Given the description of an element on the screen output the (x, y) to click on. 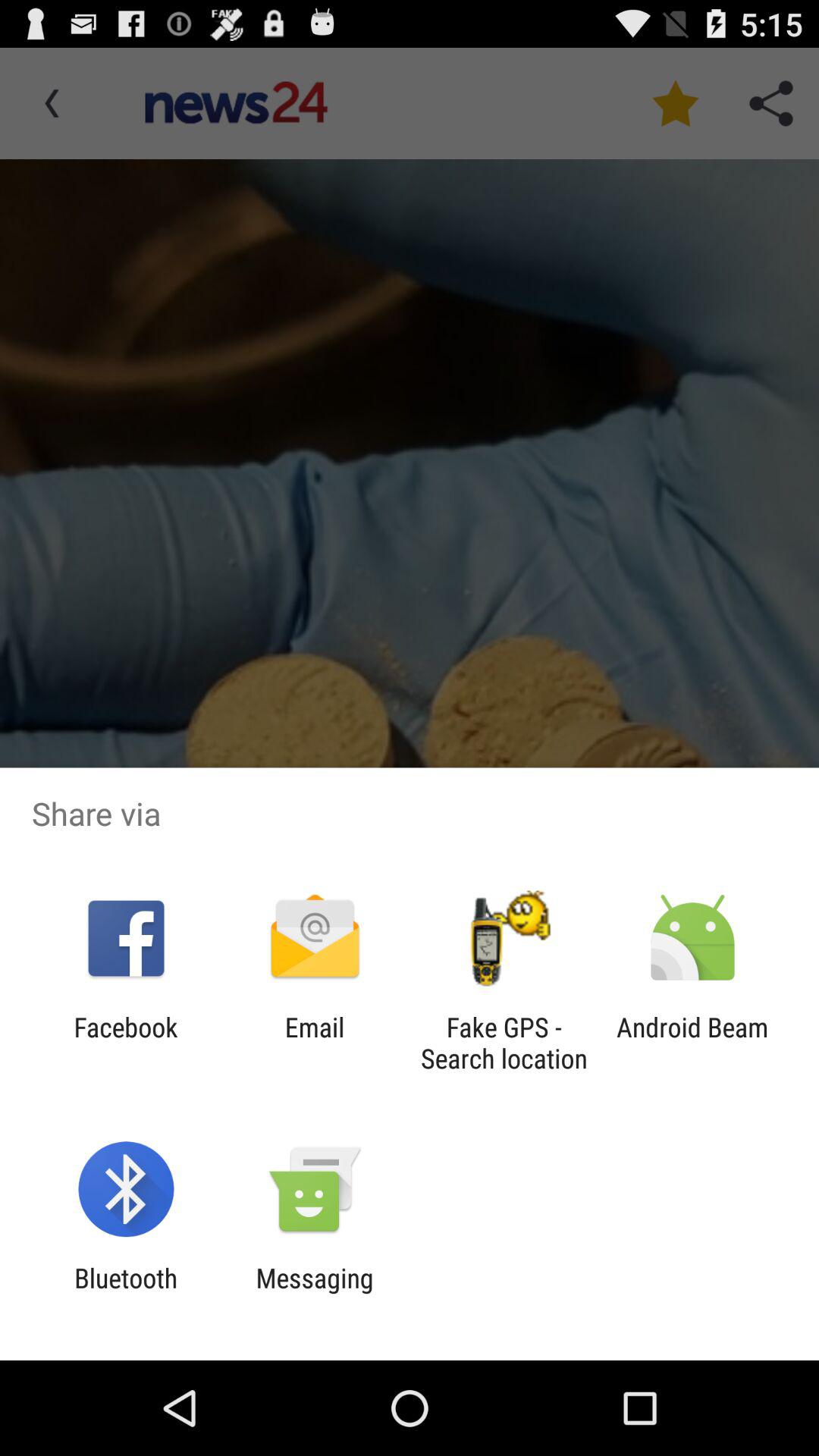
choose icon to the right of the facebook icon (314, 1042)
